Given the description of an element on the screen output the (x, y) to click on. 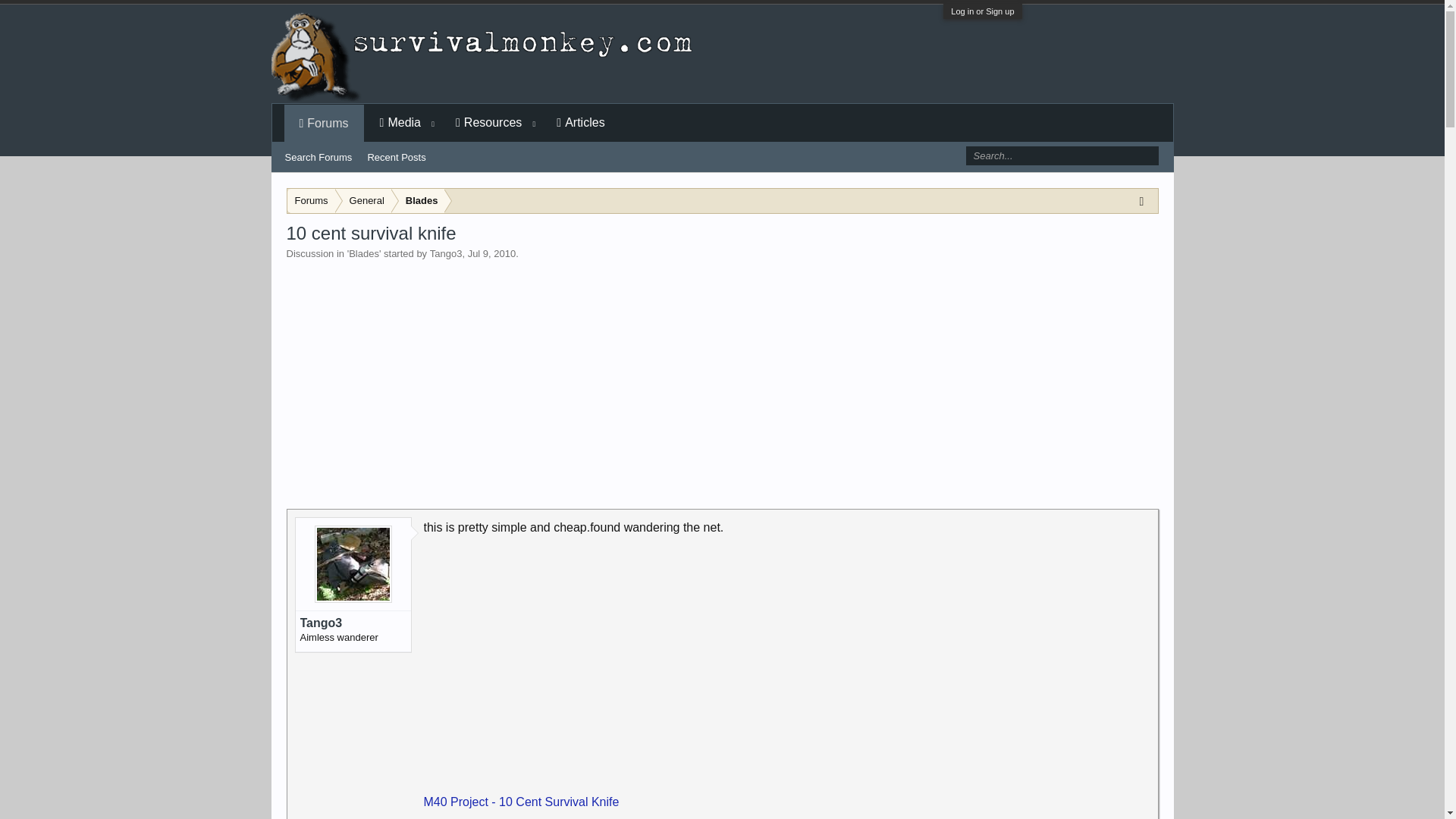
Open quick navigation (1144, 200)
Blades (418, 201)
Blades (363, 253)
Log in or Sign up (981, 10)
Tango3 (352, 622)
Tango3 (446, 253)
Forums (310, 201)
General (363, 201)
